Given the description of an element on the screen output the (x, y) to click on. 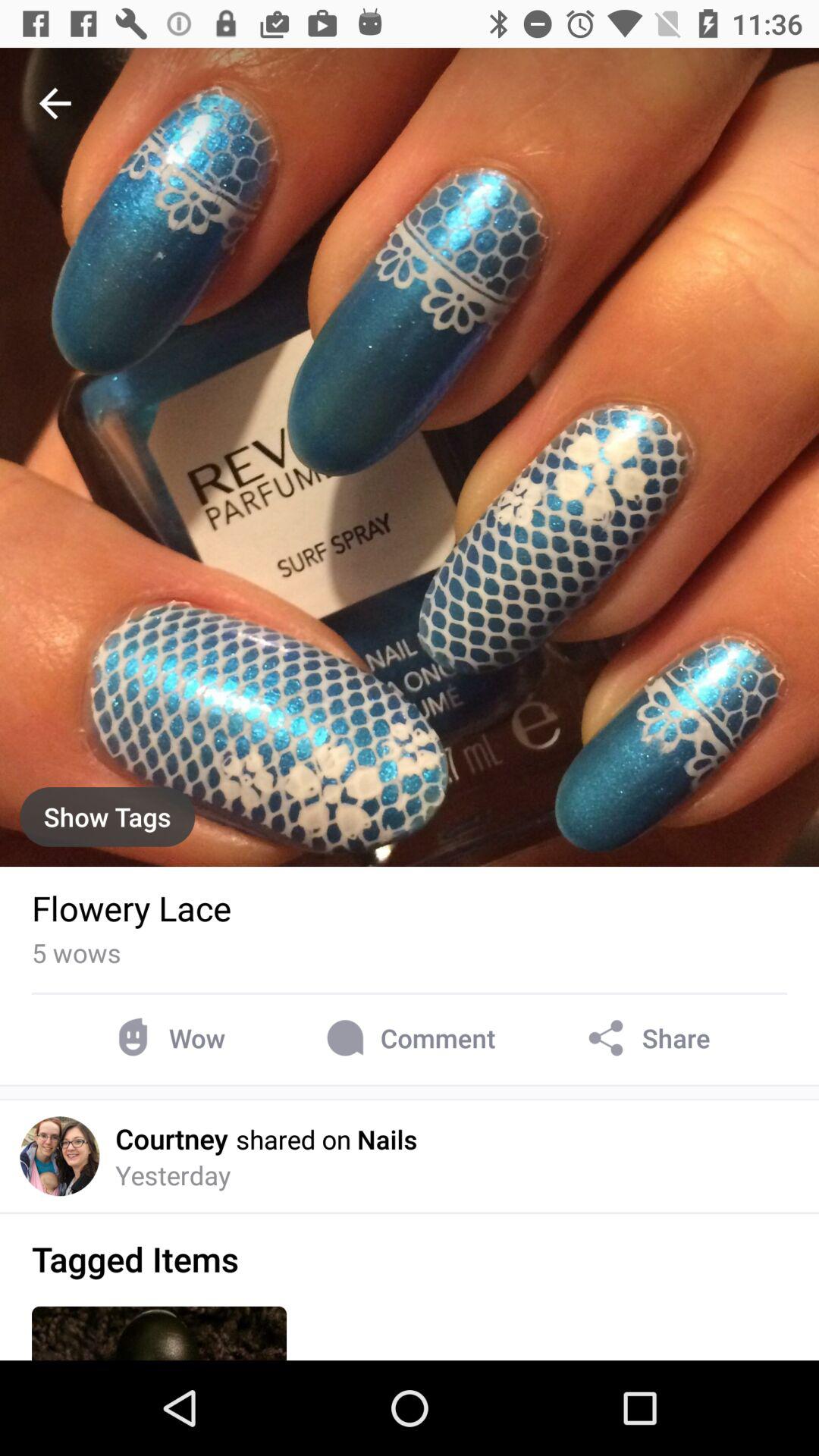
swipe to the share item (646, 1038)
